Given the description of an element on the screen output the (x, y) to click on. 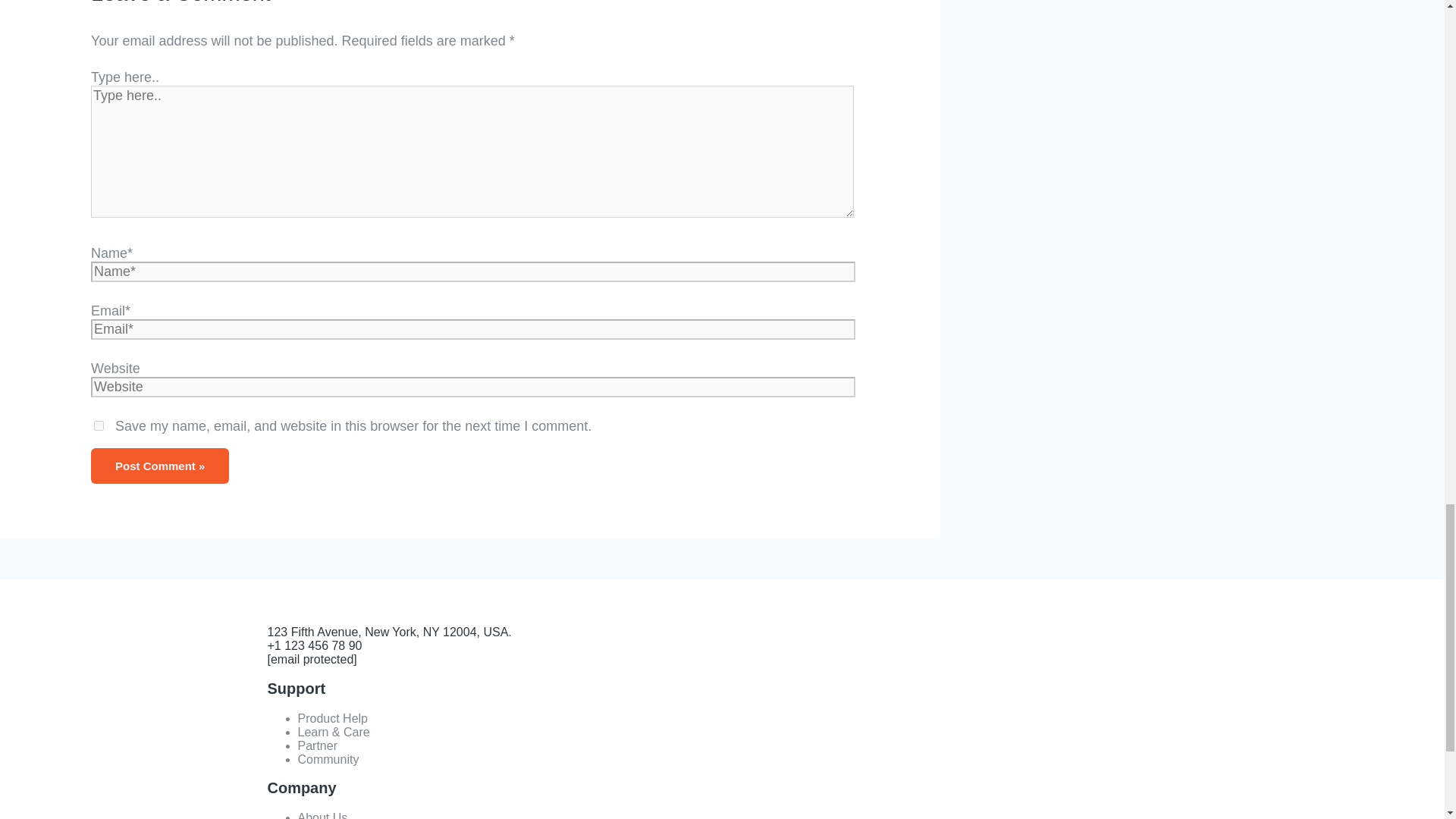
Partner (316, 745)
About Us (322, 815)
yes (98, 425)
Community (327, 758)
Product Help (332, 717)
